Given the description of an element on the screen output the (x, y) to click on. 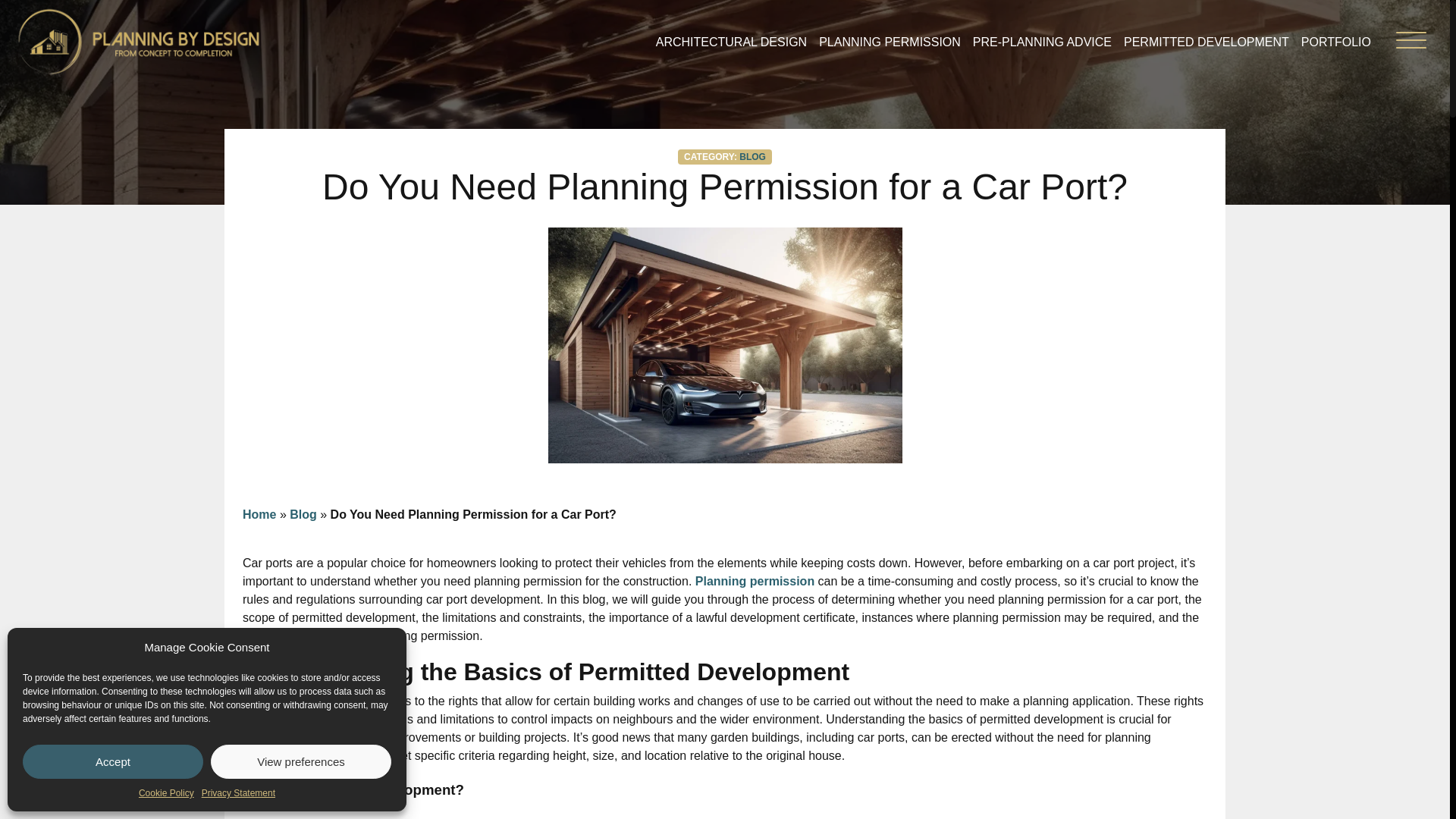
Home (259, 513)
PERMITTED DEVELOPMENT (1206, 41)
Cookie Policy (165, 793)
Privacy Statement (238, 793)
View preferences (301, 761)
PLANNING PERMISSION (889, 41)
PRE-PLANNING ADVICE (1042, 41)
BLOG (752, 156)
Planning By Design (137, 41)
PORTFOLIO (1336, 41)
